Given the description of an element on the screen output the (x, y) to click on. 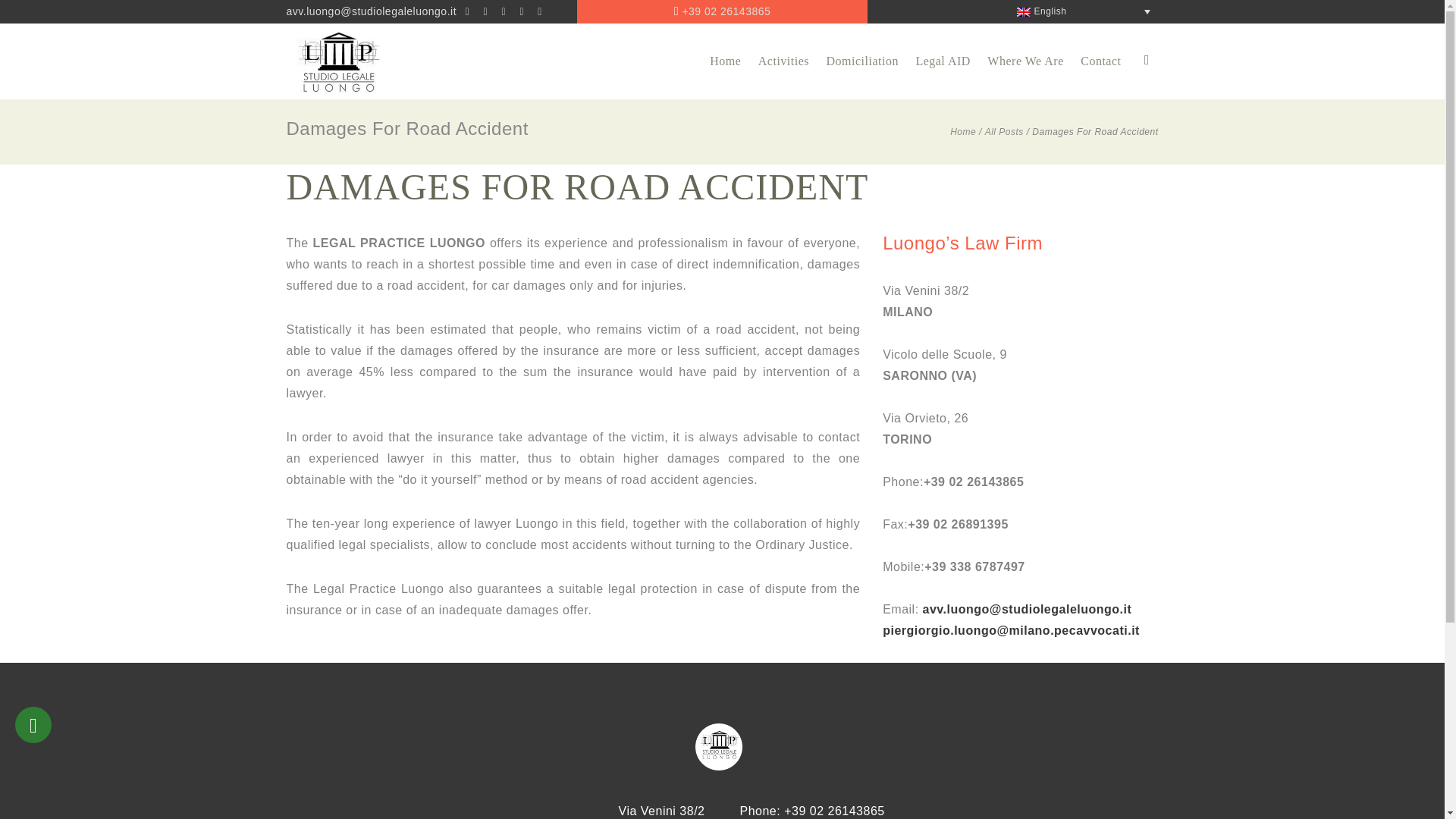
All Posts (1004, 131)
Domiciliation (861, 61)
English (1079, 11)
Home (962, 131)
Legal AID (942, 61)
Where We Are (1024, 61)
